Given the description of an element on the screen output the (x, y) to click on. 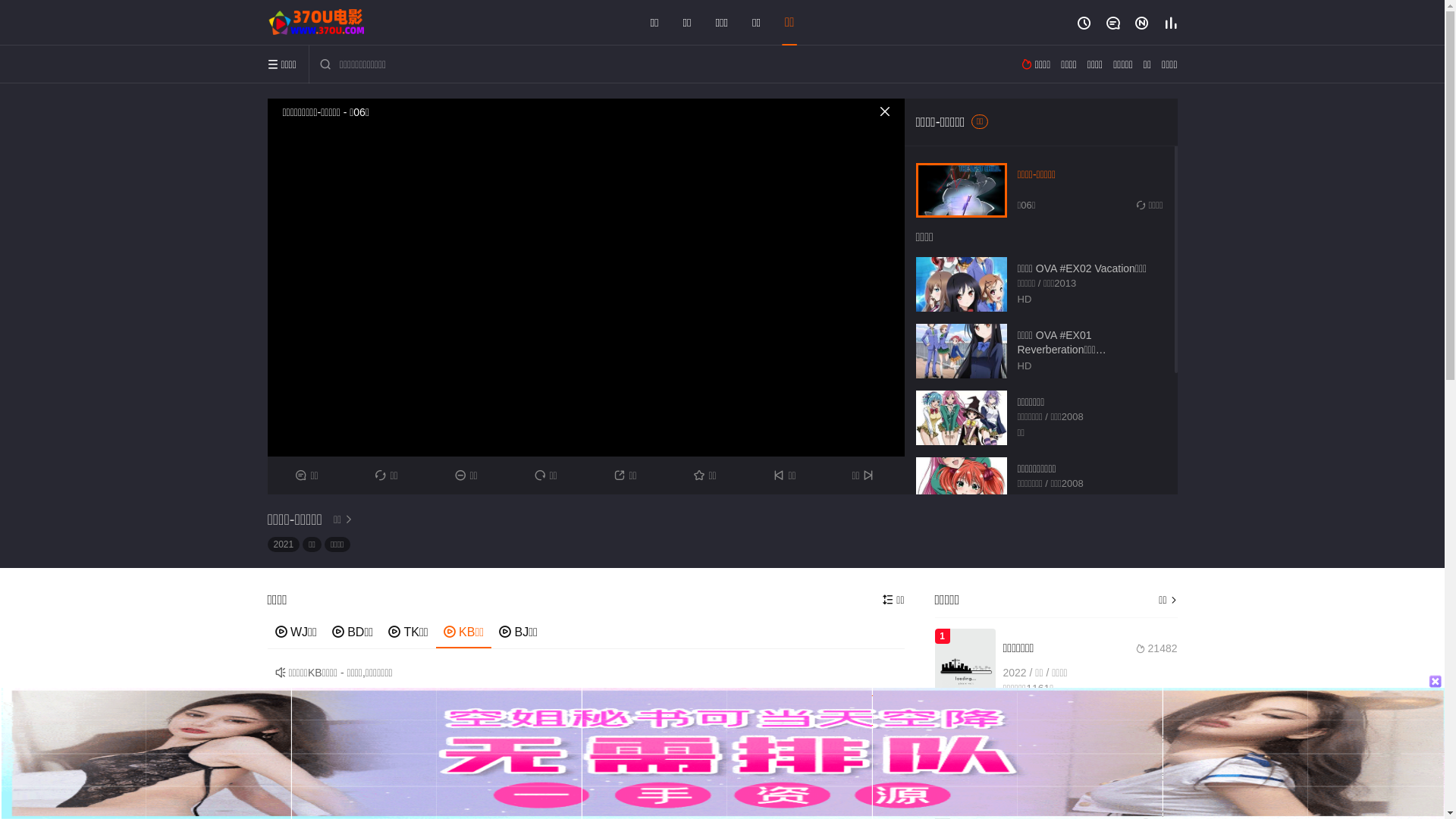
2021 Element type: text (282, 544)
